Given the description of an element on the screen output the (x, y) to click on. 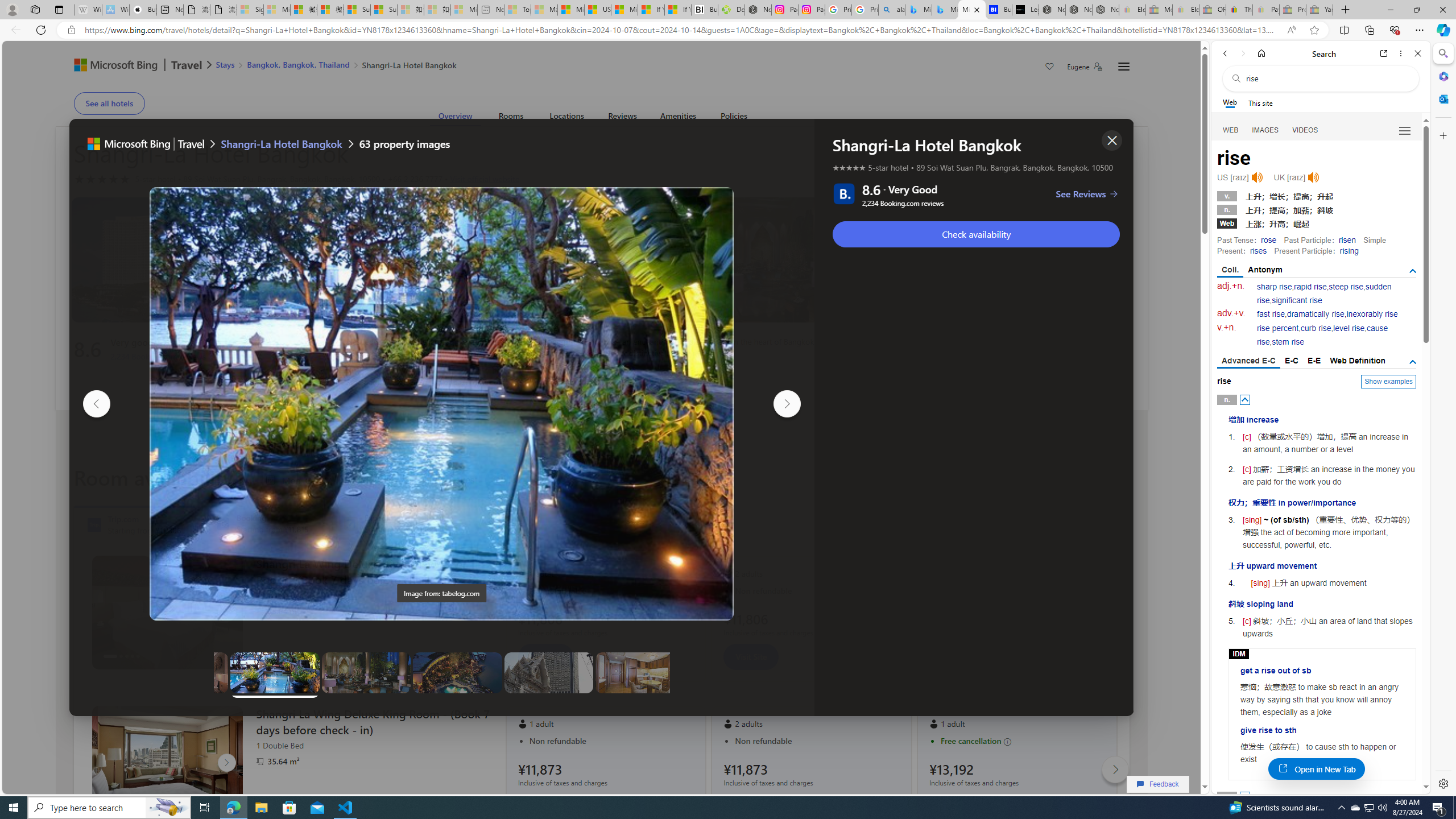
Microsoft account | Account Checkup - Sleeping (463, 9)
cause rise (1322, 335)
rising (1348, 250)
Microsoft Bing Travel - Flights from Hong Kong to Bangkok (917, 9)
AutomationID: tgsb (1412, 270)
Descarga Driver Updater (731, 9)
